Given the description of an element on the screen output the (x, y) to click on. 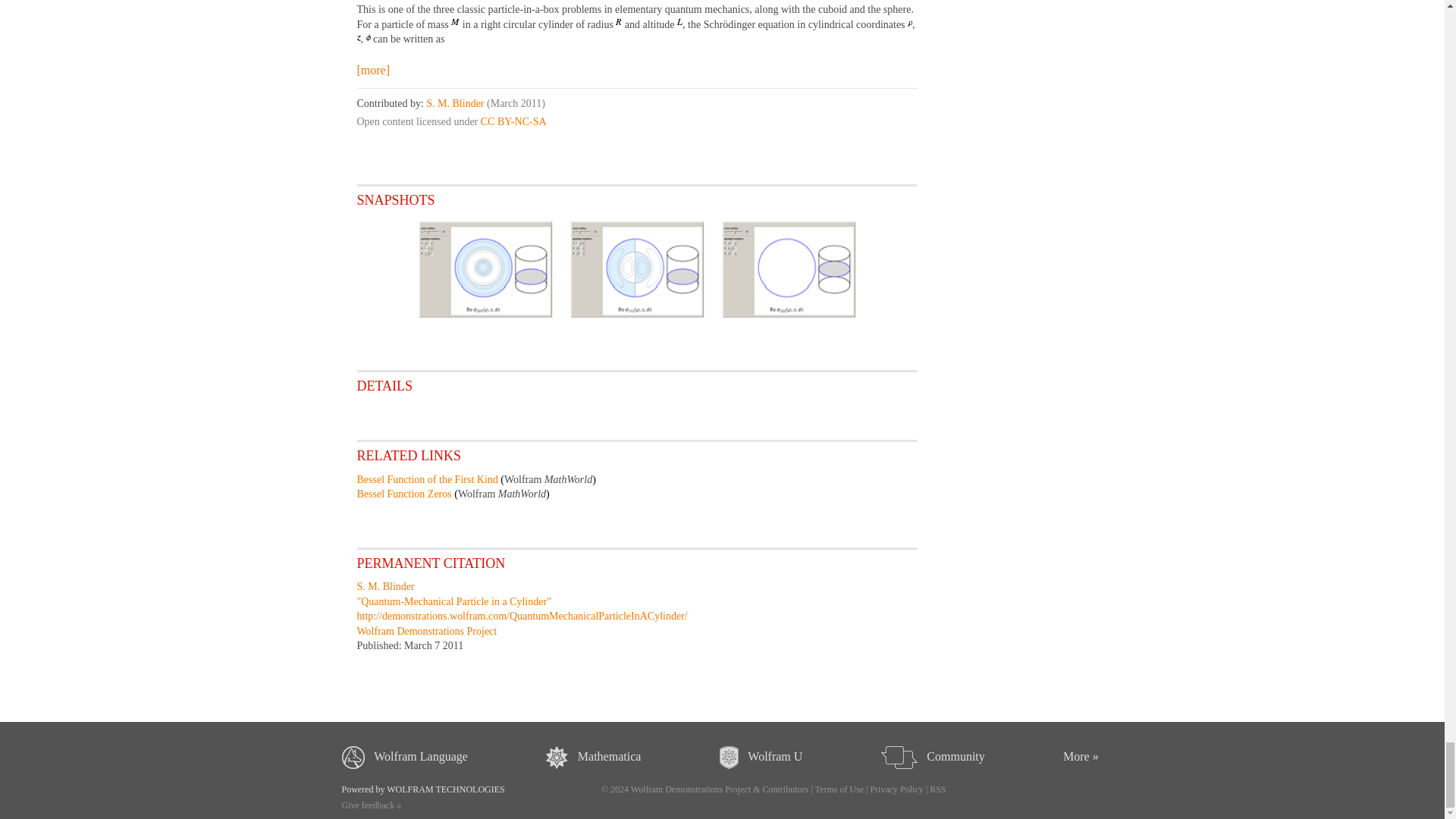
S. M. Blinder (384, 586)
Bessel Function of the First Kind (426, 479)
Wolfram MathWorld (547, 479)
Wolfram MathWorld (502, 493)
Wolfram Demonstrations Project (426, 631)
CC BY-NC-SA (513, 121)
"Quantum-Mechanical Particle in a Cylinder" (453, 601)
S. M. Blinder (454, 102)
Bessel Function Zeros (403, 493)
